Given the description of an element on the screen output the (x, y) to click on. 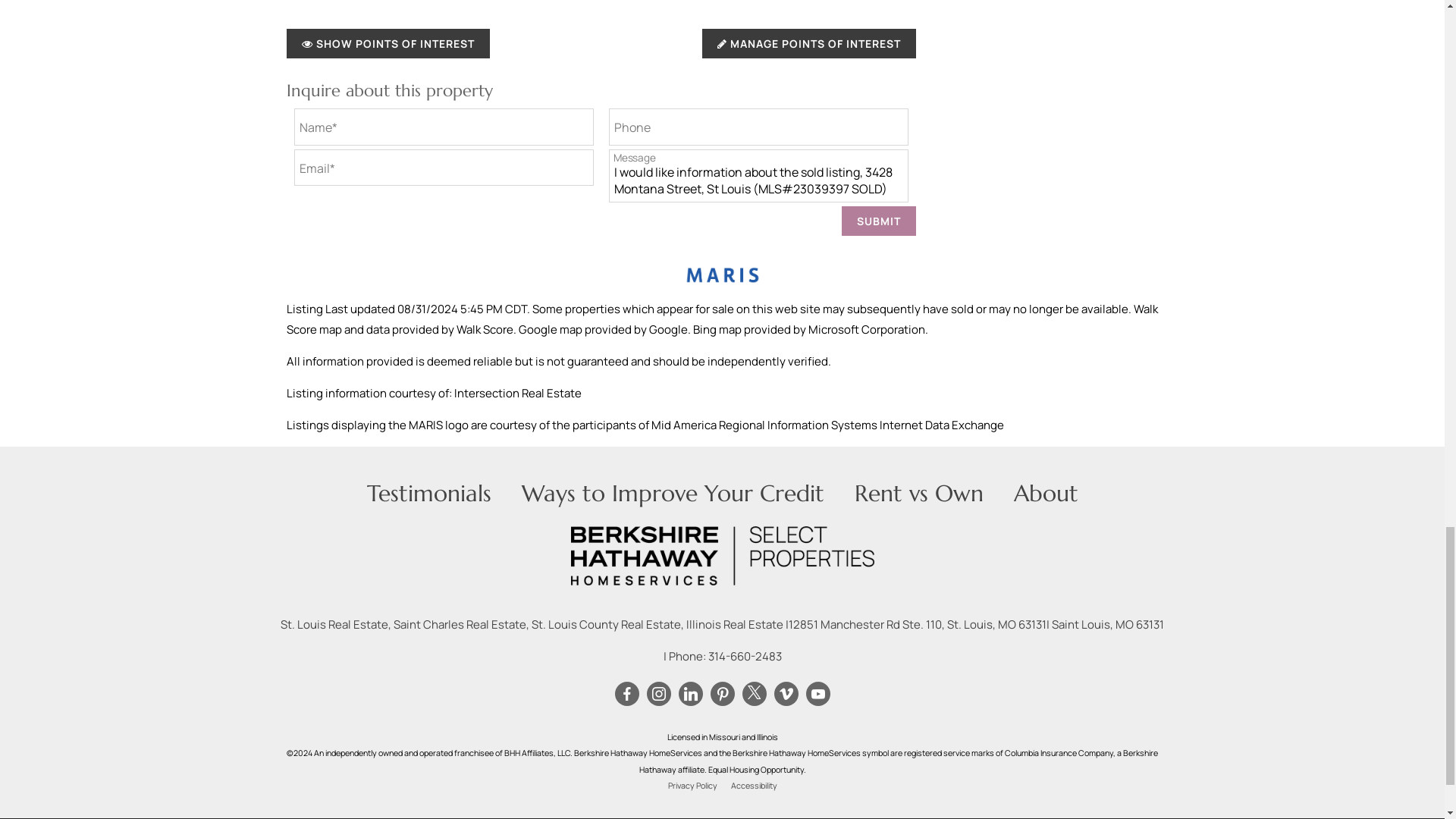
Testimonials (429, 492)
Visit me on Pinterest (722, 694)
About (1045, 492)
Visit me on Instagram (658, 694)
Visit me on Vimeo (785, 694)
Rent vs Own (917, 492)
Ways to Improve Your Credit (672, 492)
Visit me on Facebook (626, 694)
Visit me on YouTube (817, 694)
Visit me on LinkedIn (690, 694)
